Given the description of an element on the screen output the (x, y) to click on. 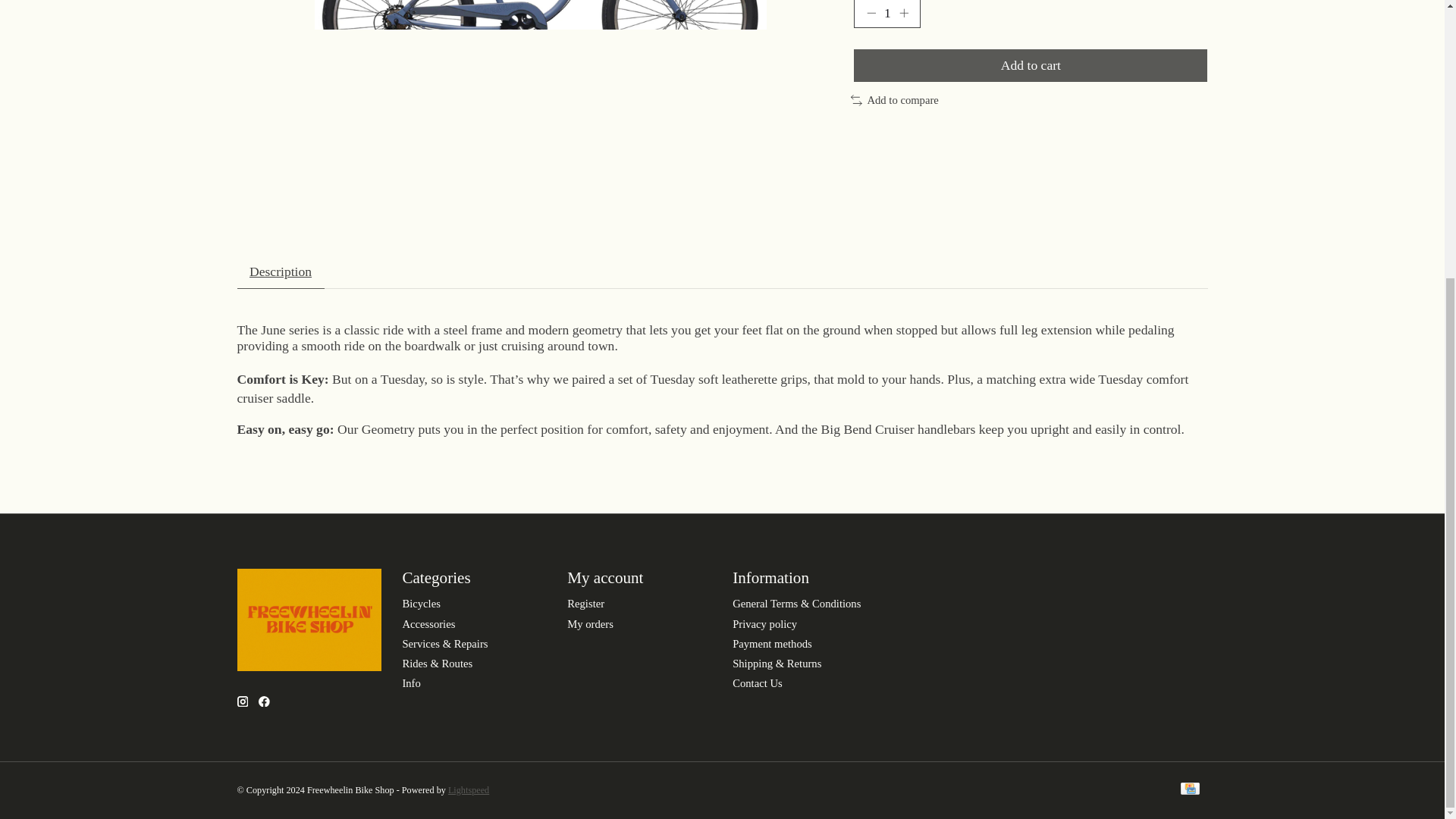
My orders (589, 623)
Contact Us (757, 683)
Register (585, 603)
Payment methods (772, 644)
Lightspeed (468, 789)
1 (886, 13)
Credit Card (1188, 789)
Privacy policy (764, 623)
